Given the description of an element on the screen output the (x, y) to click on. 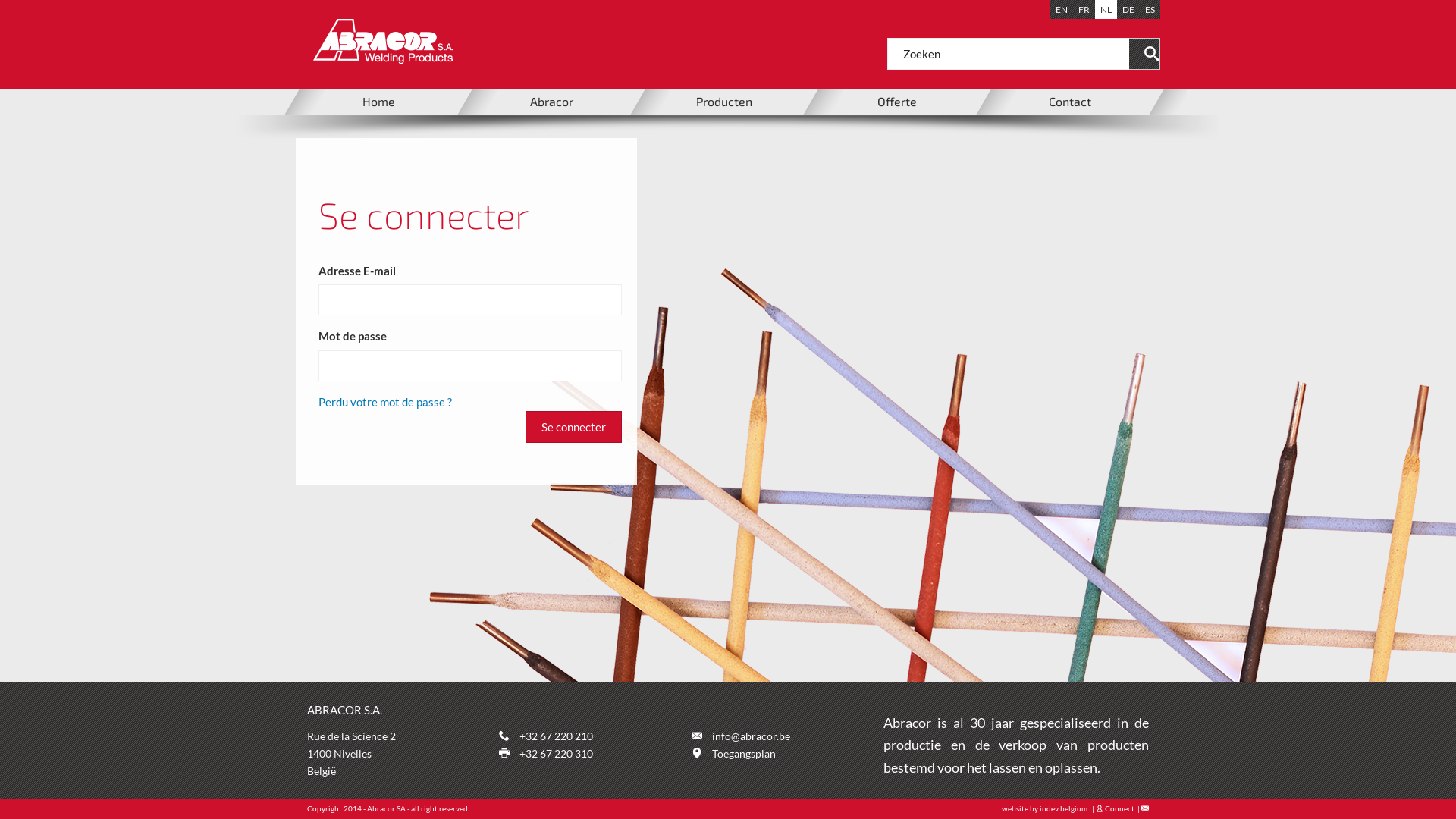
info@abracor.be Element type: text (751, 735)
ES Element type: text (1149, 9)
Perdu votre mot de passe ? Element type: text (384, 401)
Abracor s.a. welding products Element type: hover (374, 41)
Se connecter Element type: text (573, 426)
EN Element type: text (1061, 9)
Home Element type: text (378, 101)
Producten Element type: text (724, 101)
Toegangsplan Element type: text (743, 752)
website by indev belgium Element type: text (1044, 807)
FR Element type: text (1084, 9)
Offerte Element type: text (896, 101)
Abracor Element type: text (551, 101)
DE Element type: text (1128, 9)
NL Element type: text (1106, 9)
 |  Element type: text (1141, 807)
Connect Element type: text (1115, 807)
Contact Element type: text (1069, 101)
